Given the description of an element on the screen output the (x, y) to click on. 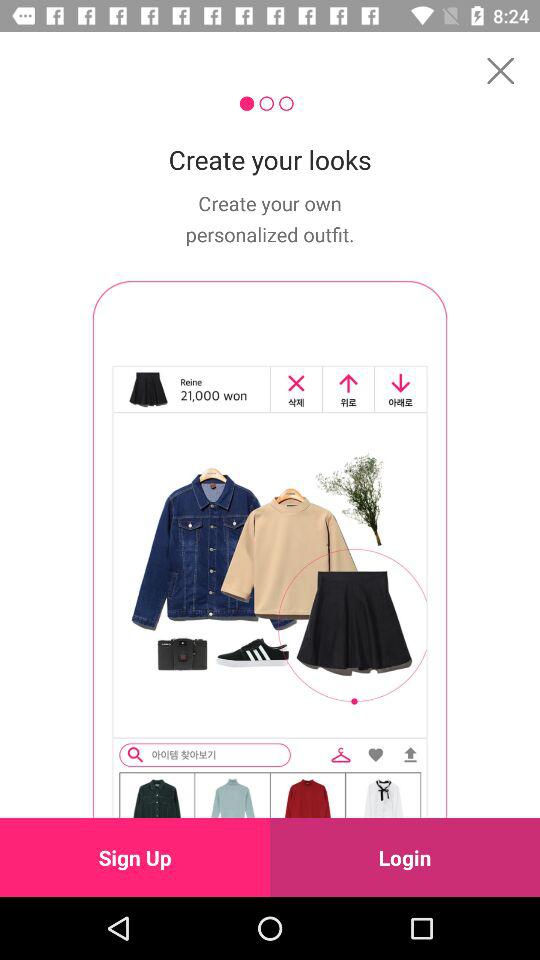
jump to login icon (405, 857)
